Given the description of an element on the screen output the (x, y) to click on. 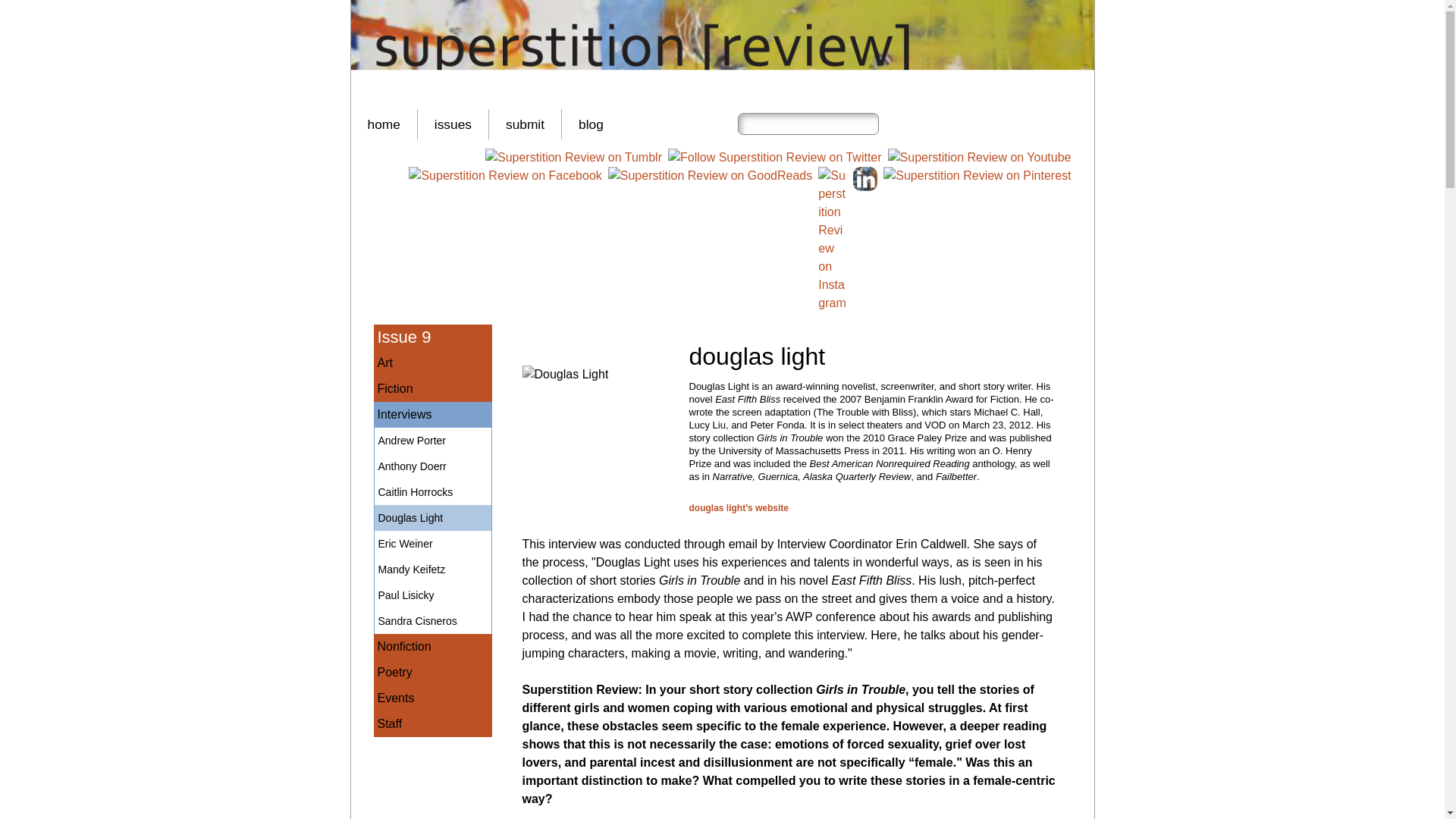
submit (524, 123)
Search (893, 123)
Enter the terms you wish to search for. (806, 124)
Follow Superstition Review on Twitter (775, 157)
Superstition Review on GoodReads (710, 176)
Douglas Light (564, 374)
Search (893, 123)
home (383, 123)
Superstition Review on Youtube (979, 157)
issues (452, 123)
